Given the description of an element on the screen output the (x, y) to click on. 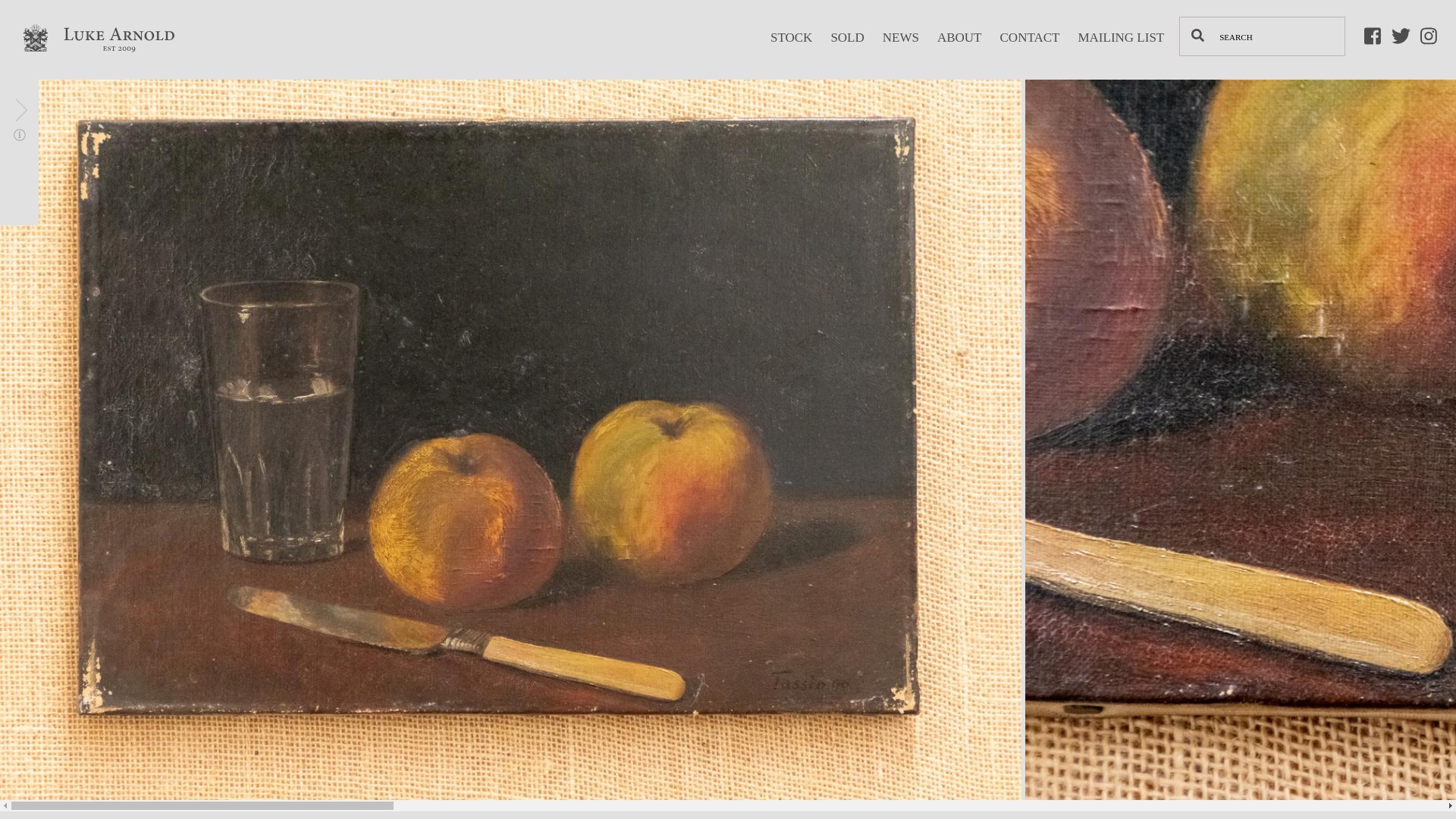
LJA Antiques Home (94, 71)
Mailing List (1120, 48)
